Given the description of an element on the screen output the (x, y) to click on. 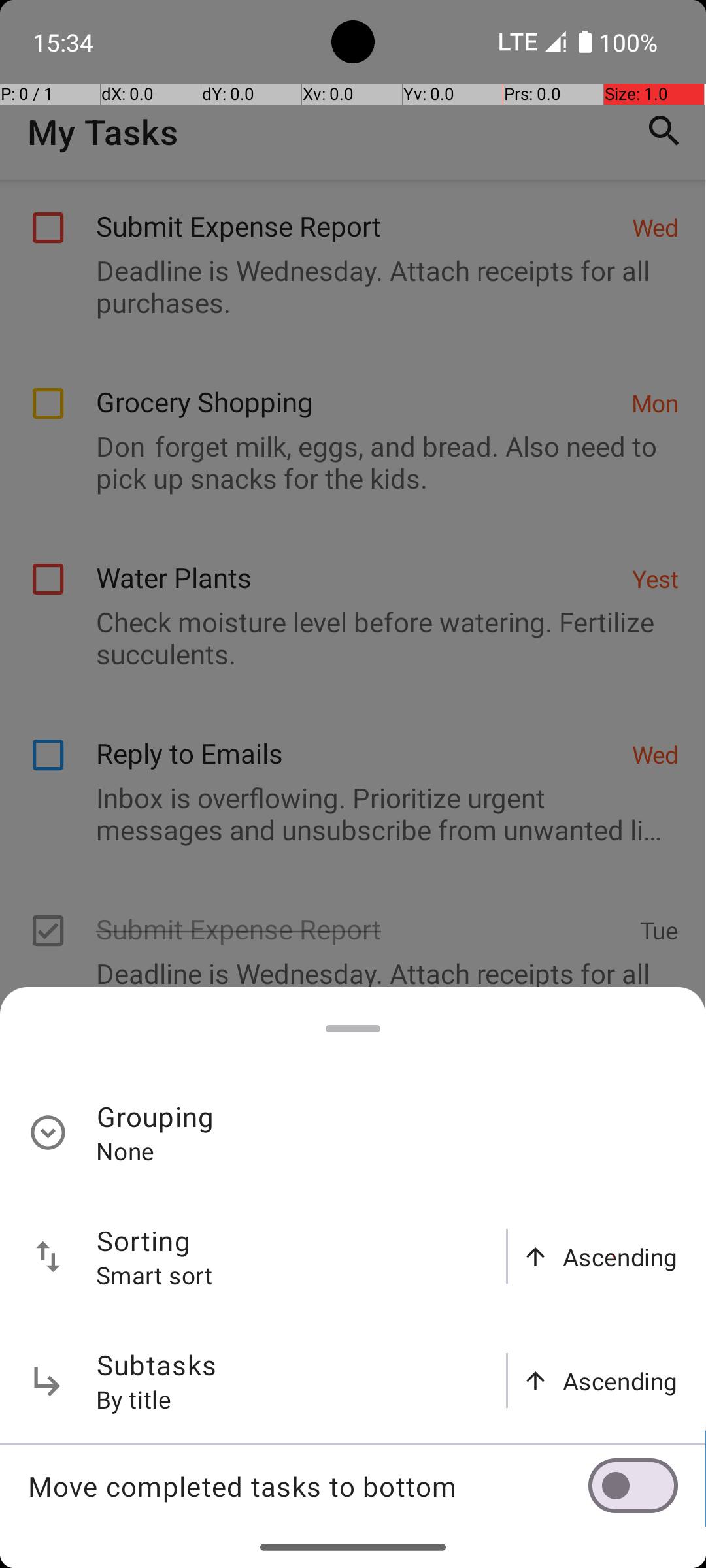
Drag handle Element type: android.view.View (352, 1028)
Grouping Element type: android.widget.TextView (155, 1115)
Sorting Element type: android.widget.TextView (143, 1239)
Smart sort Element type: android.widget.TextView (154, 1274)
Subtasks Element type: android.widget.TextView (156, 1364)
By title Element type: android.widget.TextView (133, 1399)
Move completed tasks to bottom Element type: android.widget.TextView (307, 1485)
Ascending Element type: android.widget.TextView (619, 1256)
